Given the description of an element on the screen output the (x, y) to click on. 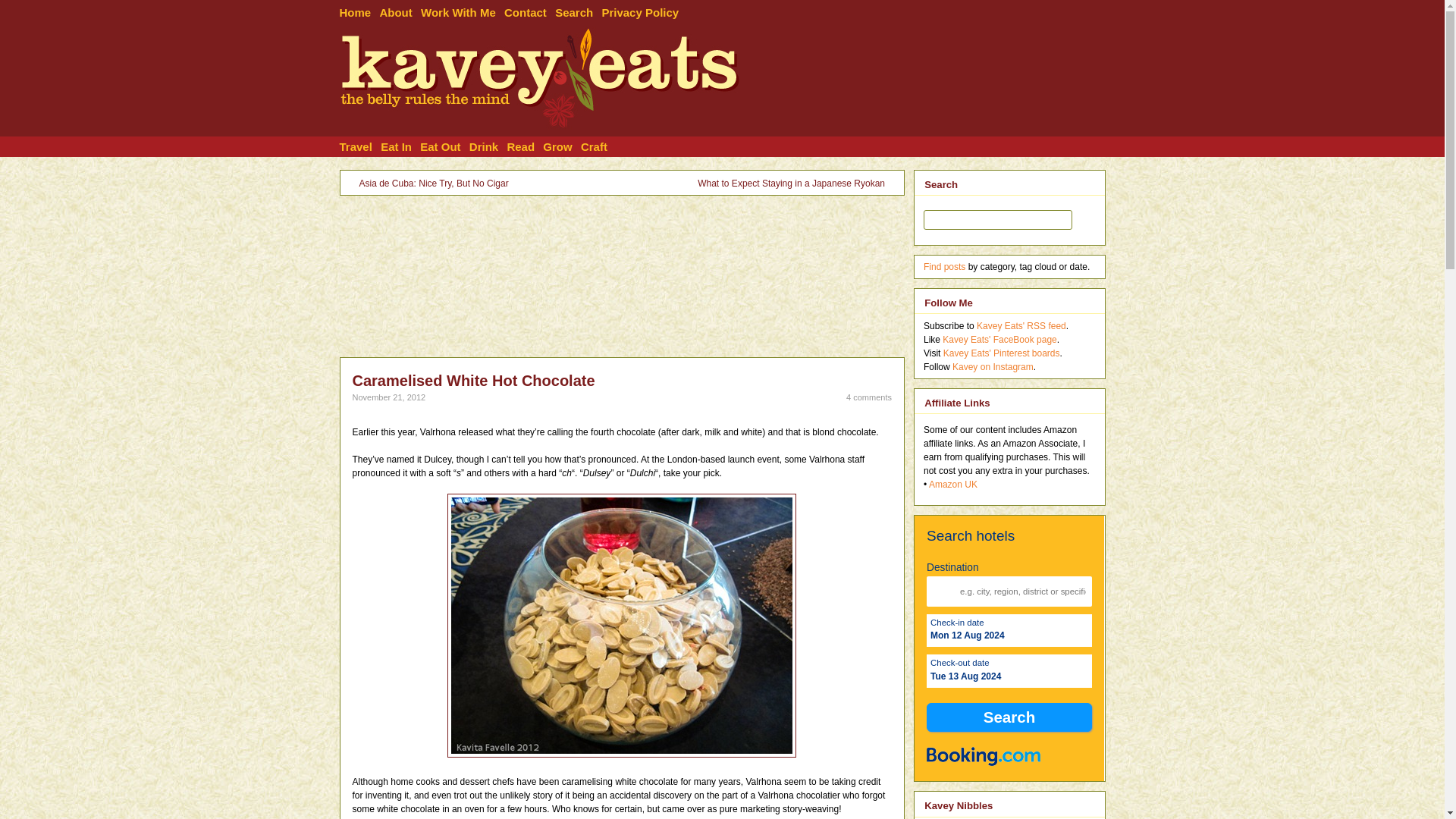
Caramelised White Hot Chocolate (473, 380)
Work With Me (461, 11)
Contact (528, 11)
Search (1009, 717)
About (399, 11)
Read (524, 146)
Privacy Policy (644, 11)
What to Expect Staying in a Japanese Ryokan (791, 183)
Travel (360, 146)
e.g. city, region, district or specific hotel (1009, 591)
